Given the description of an element on the screen output the (x, y) to click on. 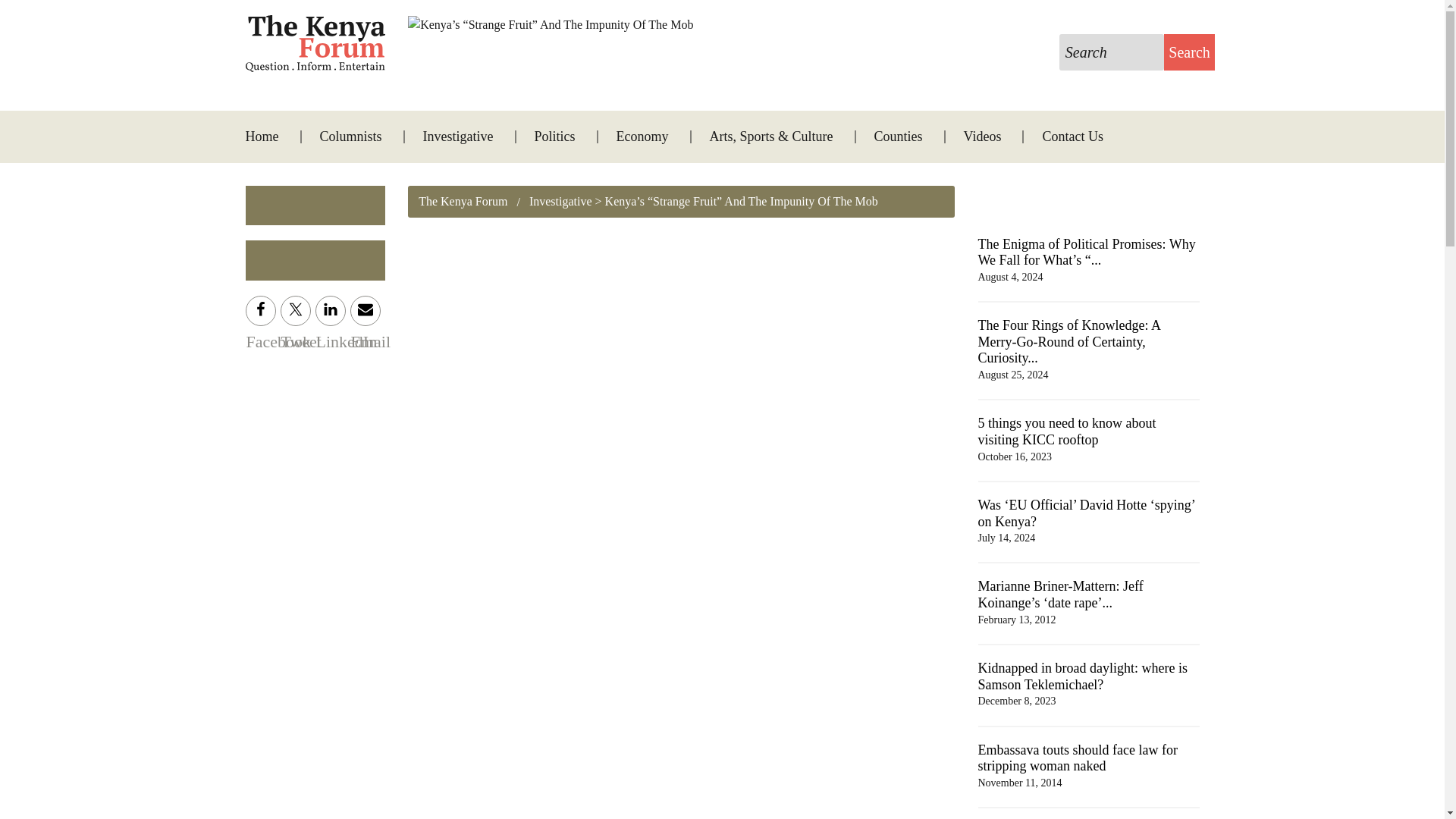
Share on Facebook (261, 310)
Facebook (261, 310)
LinkedIn (330, 310)
The Kenya Forum (462, 201)
Contact Us (1063, 135)
Economy (642, 135)
Share on Twitter (296, 310)
Columnists (350, 135)
Home (271, 135)
Videos (982, 135)
